Given the description of an element on the screen output the (x, y) to click on. 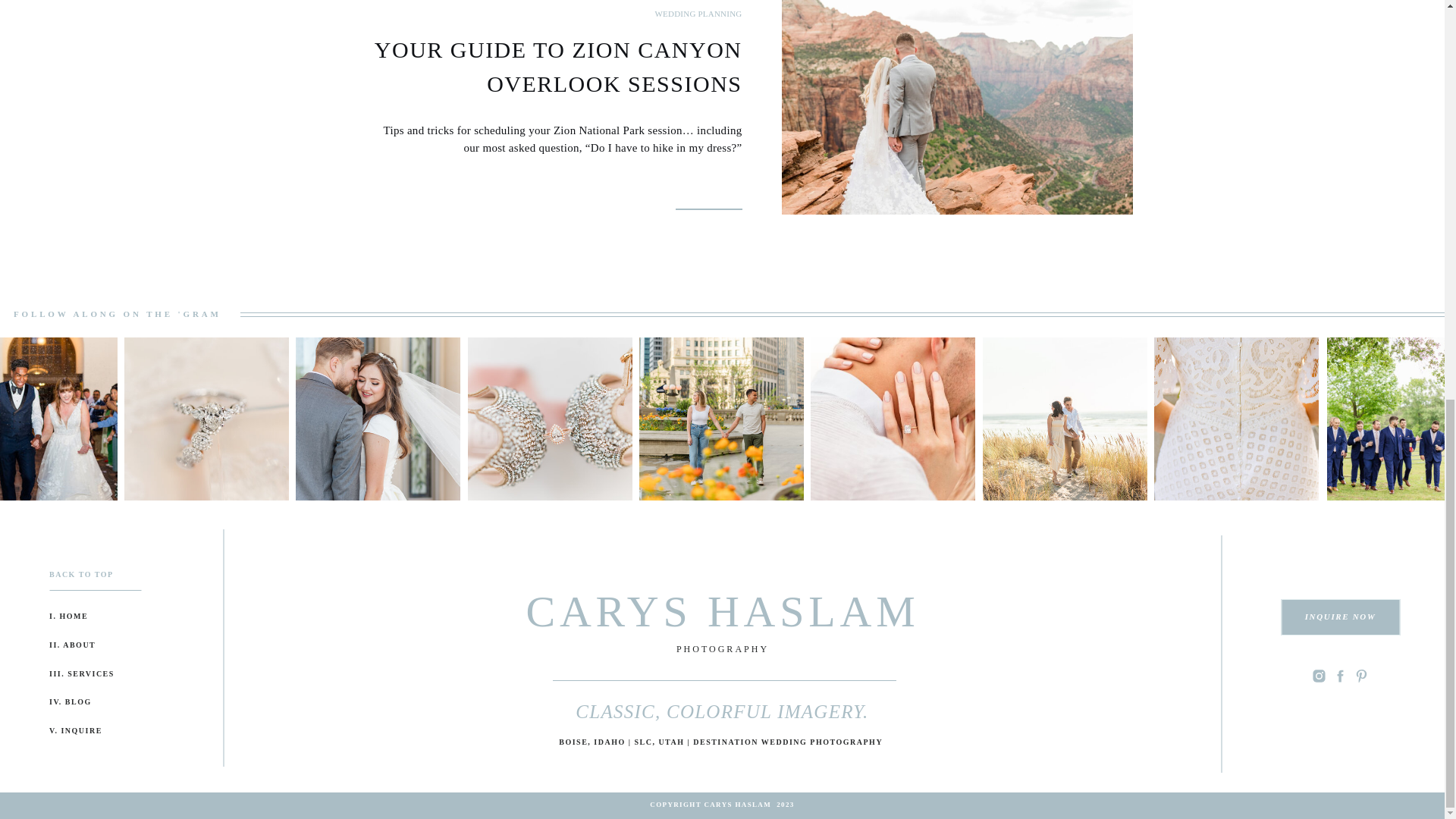
Your Guide to Zion Canyon Overlook Sessions (956, 107)
